Given the description of an element on the screen output the (x, y) to click on. 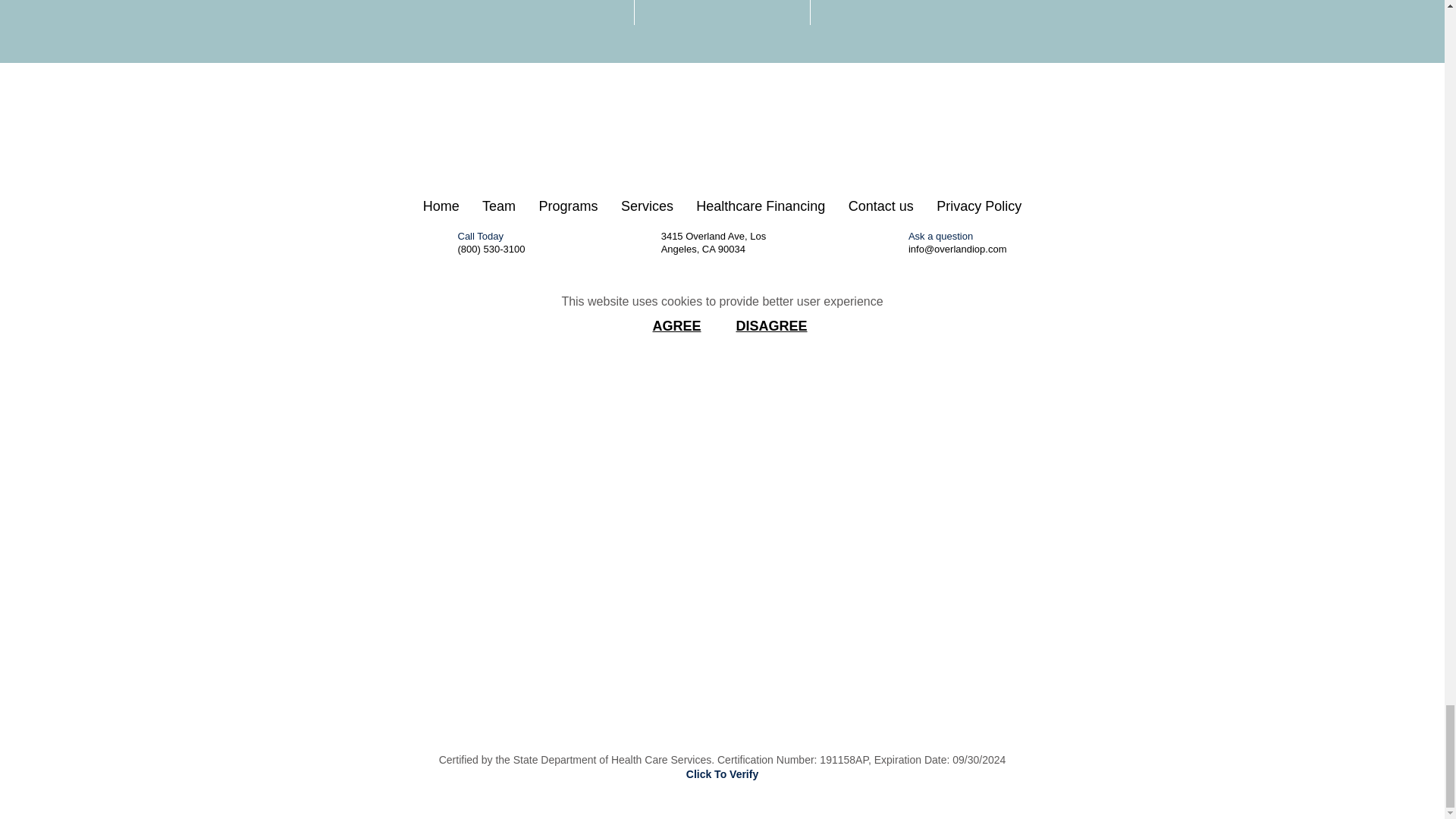
Verify LegitScript Approval (721, 477)
